Given the description of an element on the screen output the (x, y) to click on. 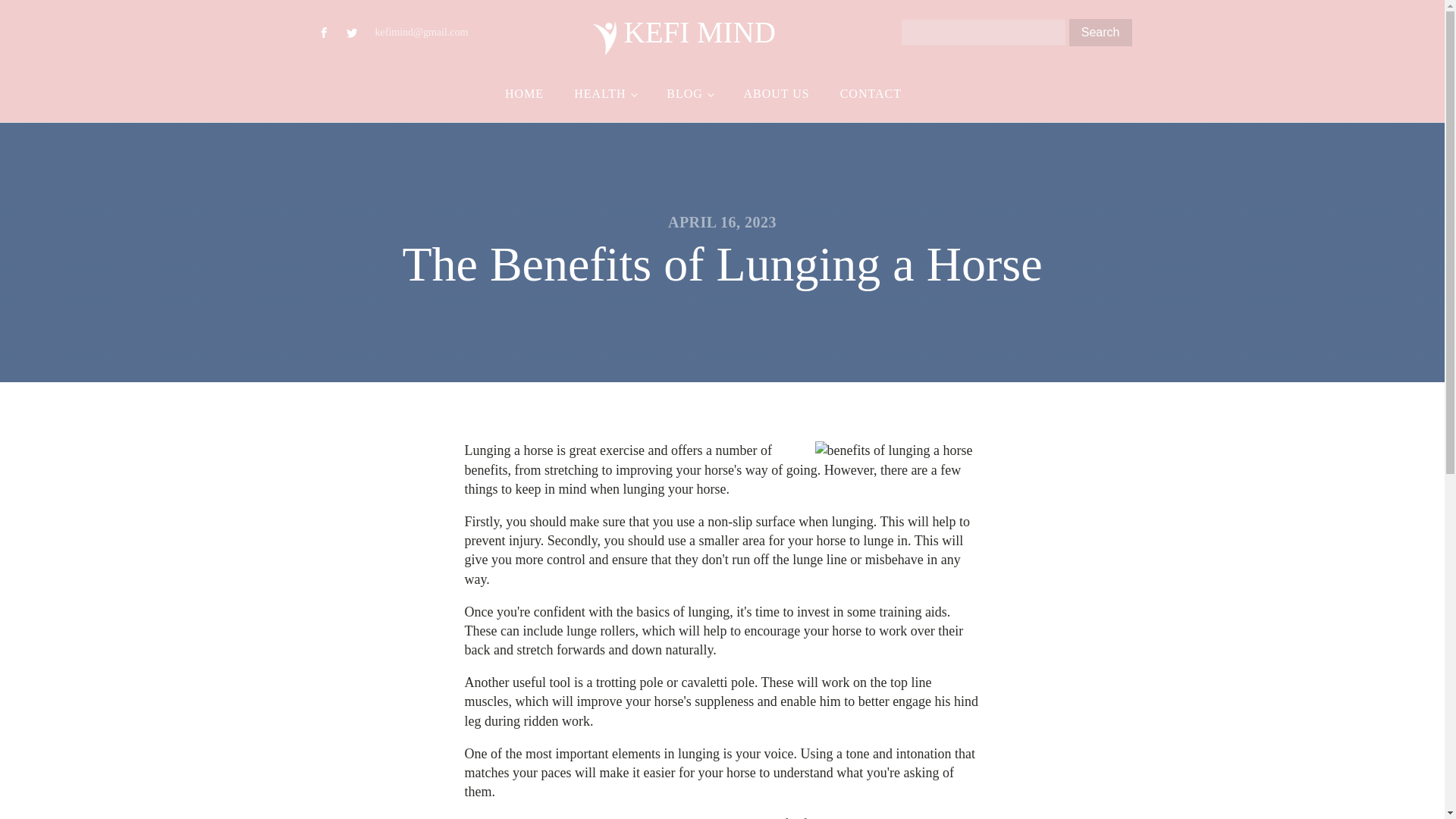
HOME (524, 94)
BLOG (689, 94)
KEFI MIND (684, 32)
CONTACT (871, 94)
Search (1100, 31)
Search (1100, 31)
HEALTH (604, 94)
ABOUT US (776, 94)
